Given the description of an element on the screen output the (x, y) to click on. 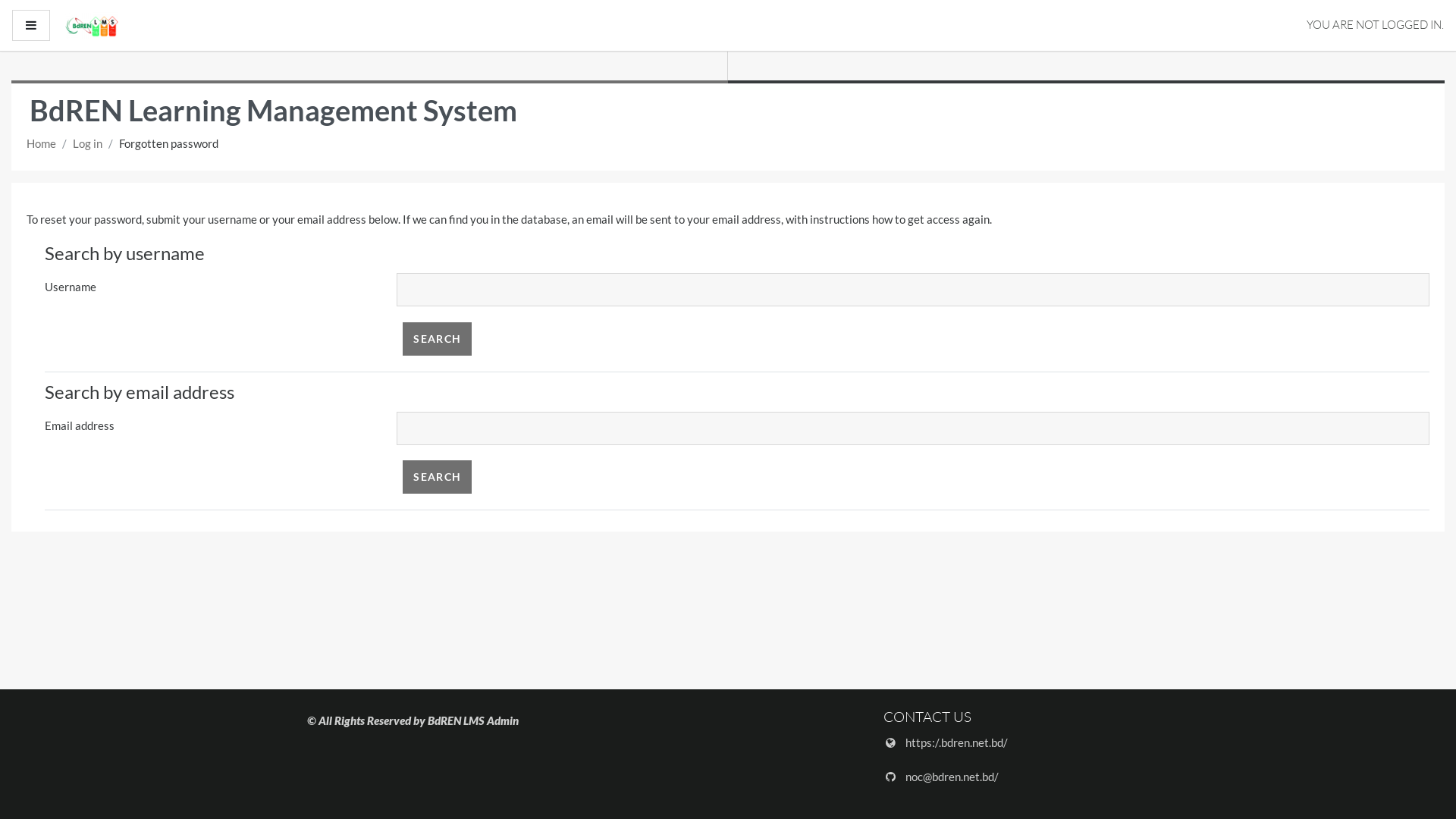
Log in Element type: text (87, 143)
Search Element type: text (436, 476)
Home Element type: text (41, 143)
Side panel Element type: text (31, 24)
https:/.bdren.net.bd/ Element type: text (956, 742)
noc@bdren.net.bd/ Element type: text (951, 775)
Search Element type: text (436, 338)
